Given the description of an element on the screen output the (x, y) to click on. 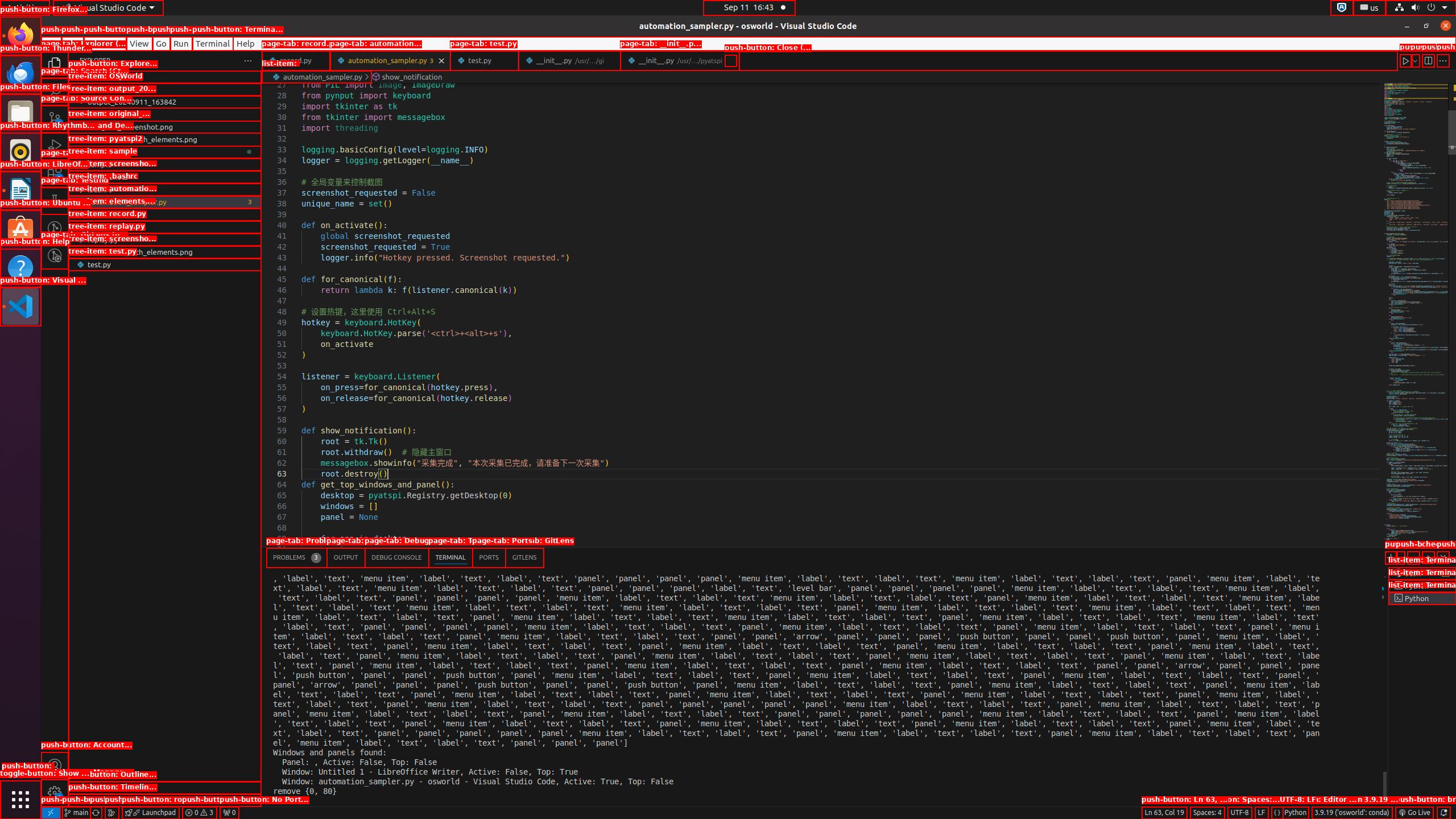
:1.21/StatusNotifierItem Element type: menu (1369, 7)
original_screenshot.png Element type: tree-item (164, 126)
Terminal (Ctrl+`) Element type: page-tab (450, 557)
Notifications Element type: push-button (1443, 812)
